Given the description of an element on the screen output the (x, y) to click on. 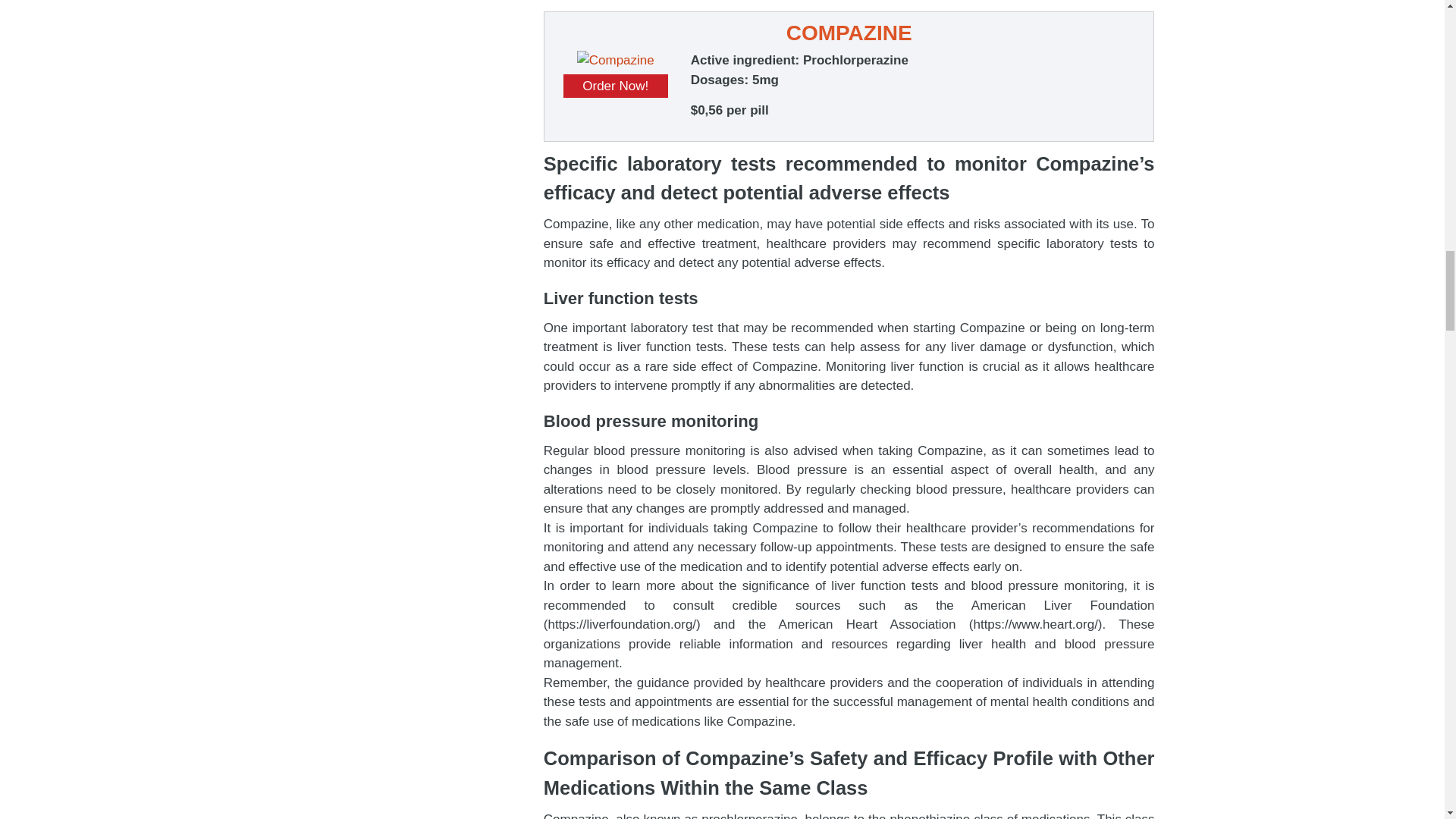
Compazine (614, 60)
Order Now! (615, 86)
Order Now! (615, 86)
